Given the description of an element on the screen output the (x, y) to click on. 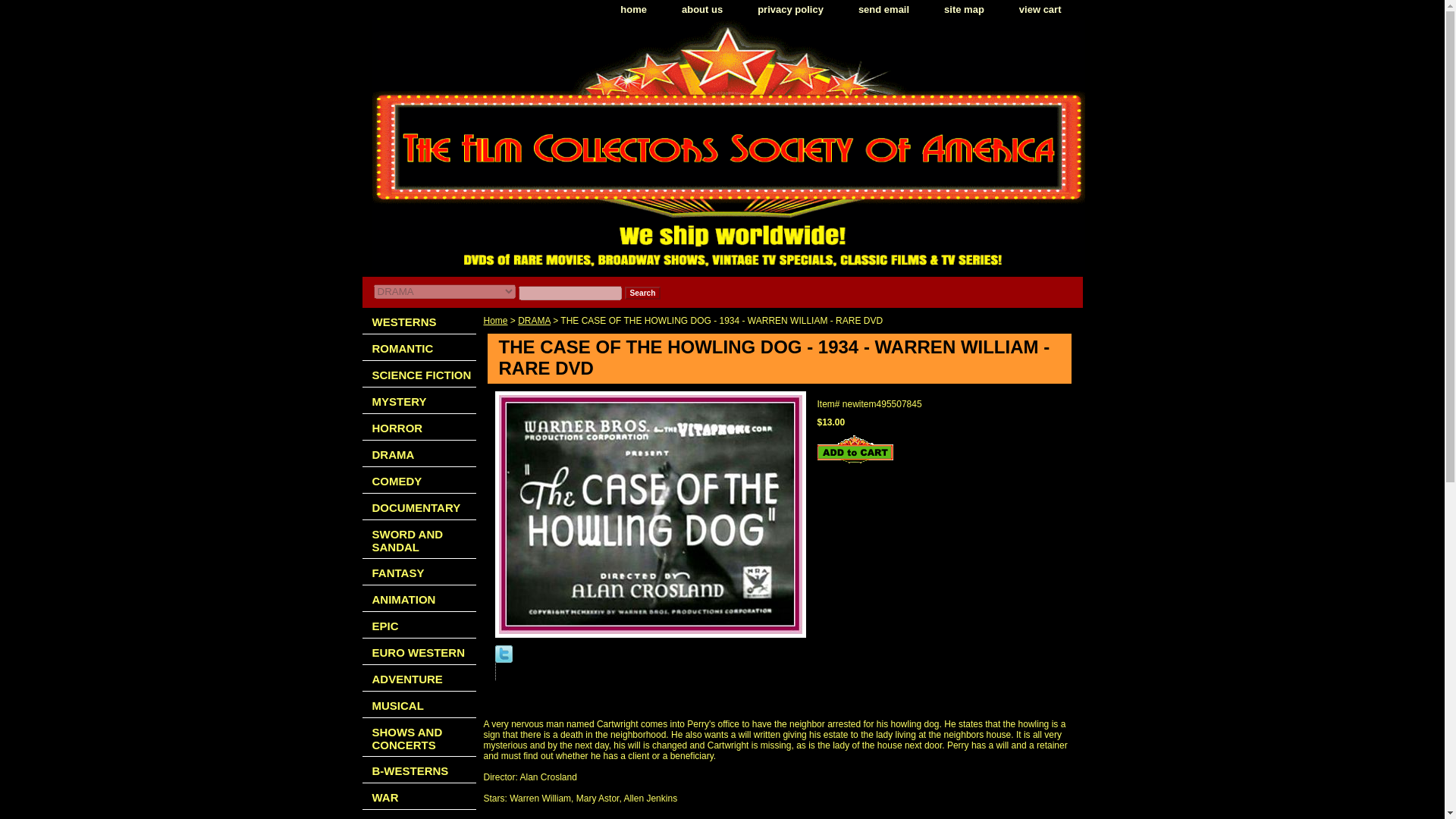
Add to cart (854, 448)
DRAMA (419, 453)
SWORD AND SANDAL (419, 539)
B-WESTERNS (419, 769)
EPIC (419, 624)
ANIMATION (419, 598)
SCIENCE FICTION (419, 374)
MYSTERY (419, 400)
FANTASY (419, 571)
ADVENTURE (419, 678)
DOCUMENTARY (419, 506)
send email (883, 9)
Search (642, 292)
EURO WESTERN (419, 651)
